Given the description of an element on the screen output the (x, y) to click on. 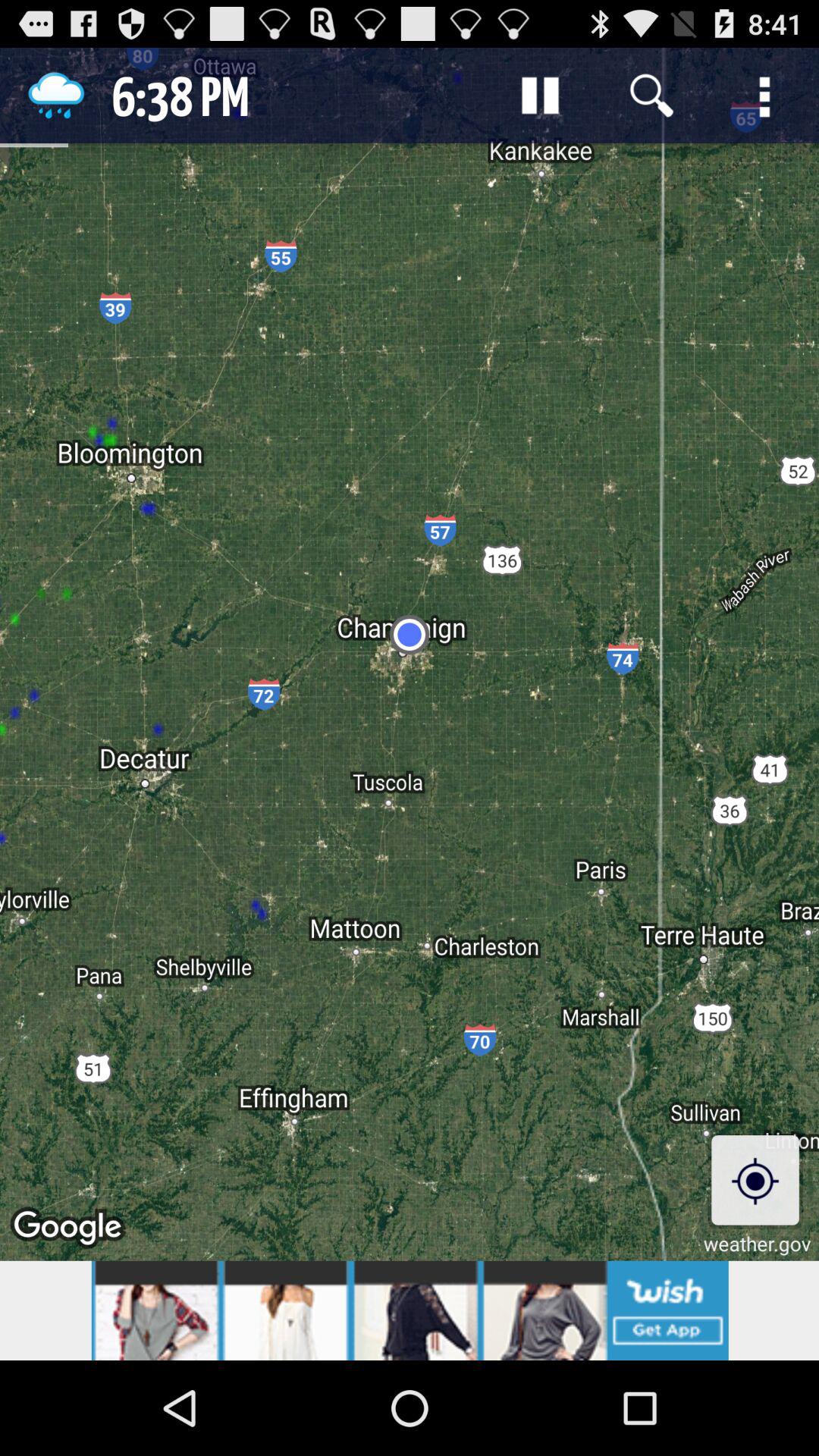
advertising app (409, 1310)
